Given the description of an element on the screen output the (x, y) to click on. 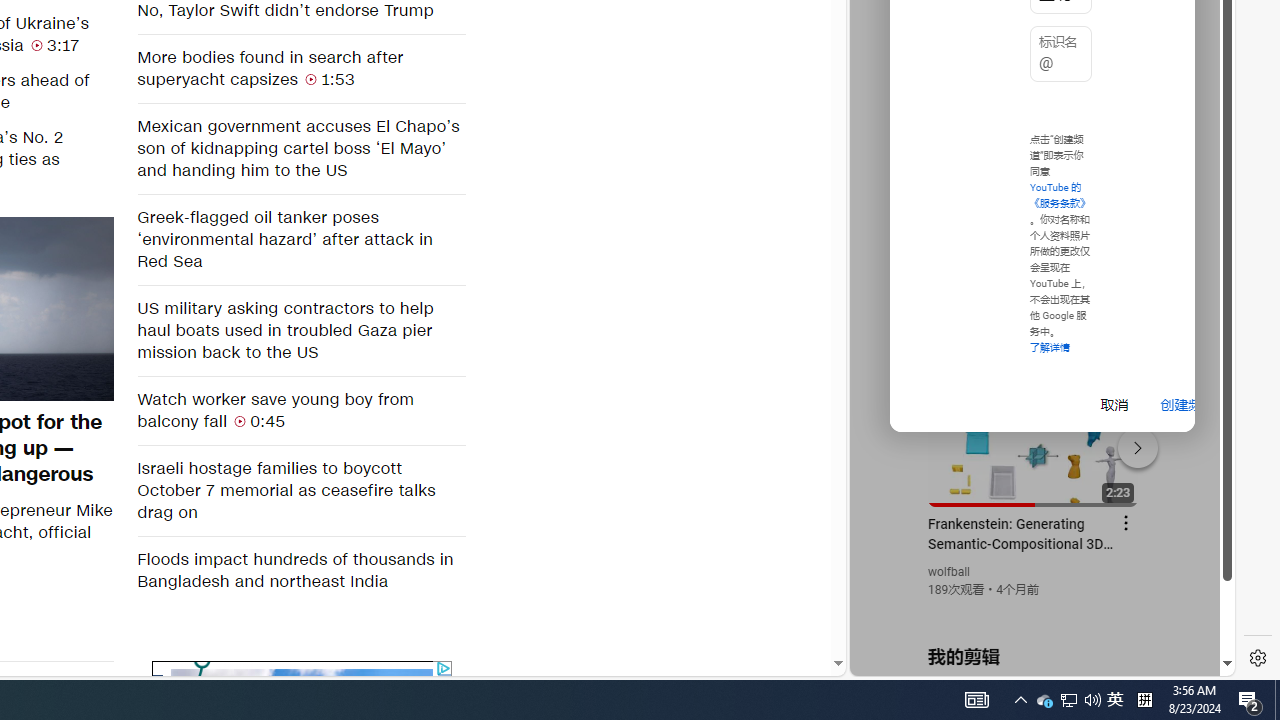
Actions for this site (1131, 443)
US[ju] (917, 660)
Class: container__video-duration-icon (240, 420)
YouTube (1034, 432)
YouTube - YouTube (1034, 266)
Watch worker save young boy from balcony fall 0:45 (300, 410)
